Given the description of an element on the screen output the (x, y) to click on. 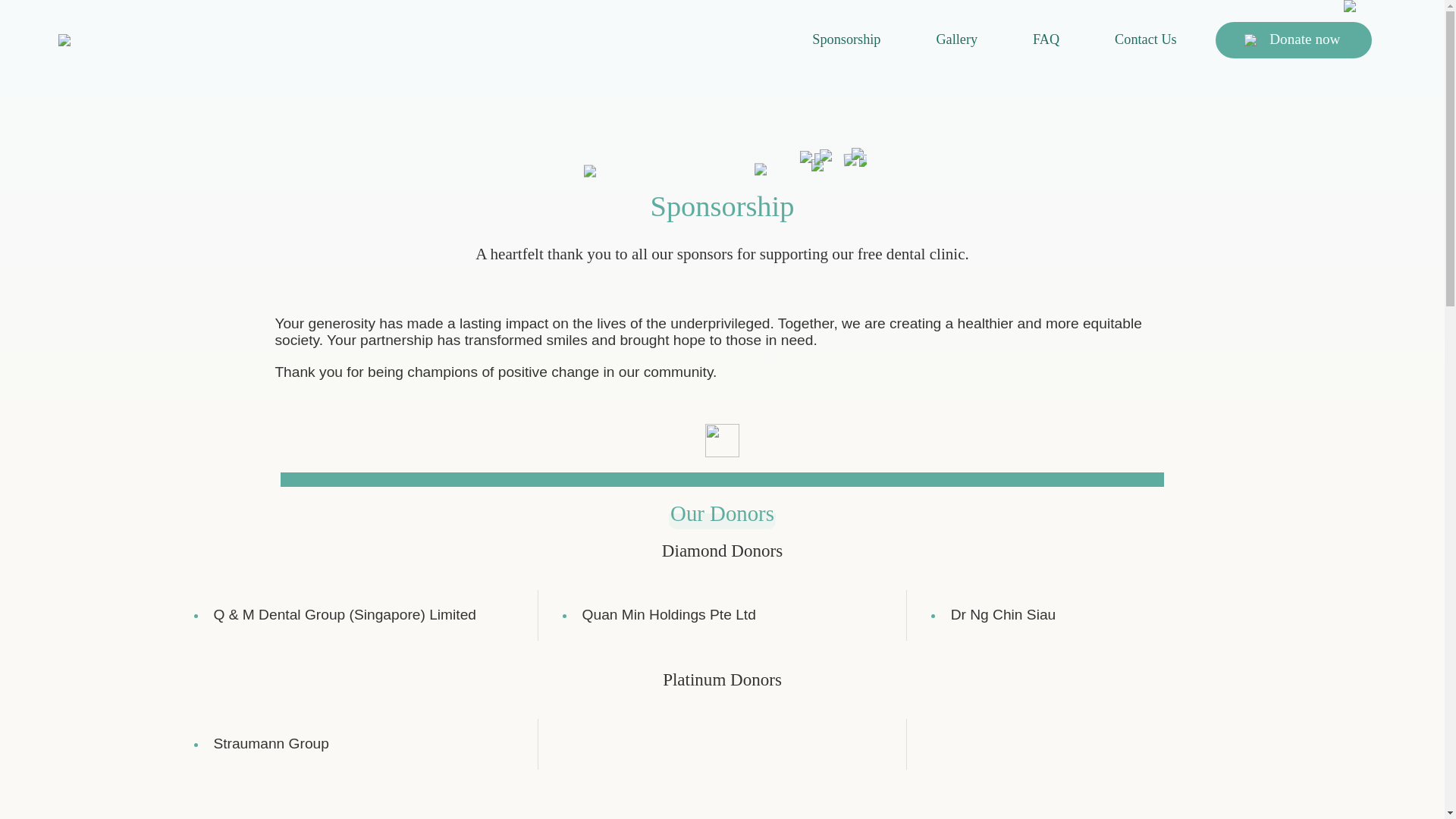
Sponsorship (846, 39)
FAQ (1045, 39)
Contact Us (1145, 39)
Gallery (956, 39)
